Given the description of an element on the screen output the (x, y) to click on. 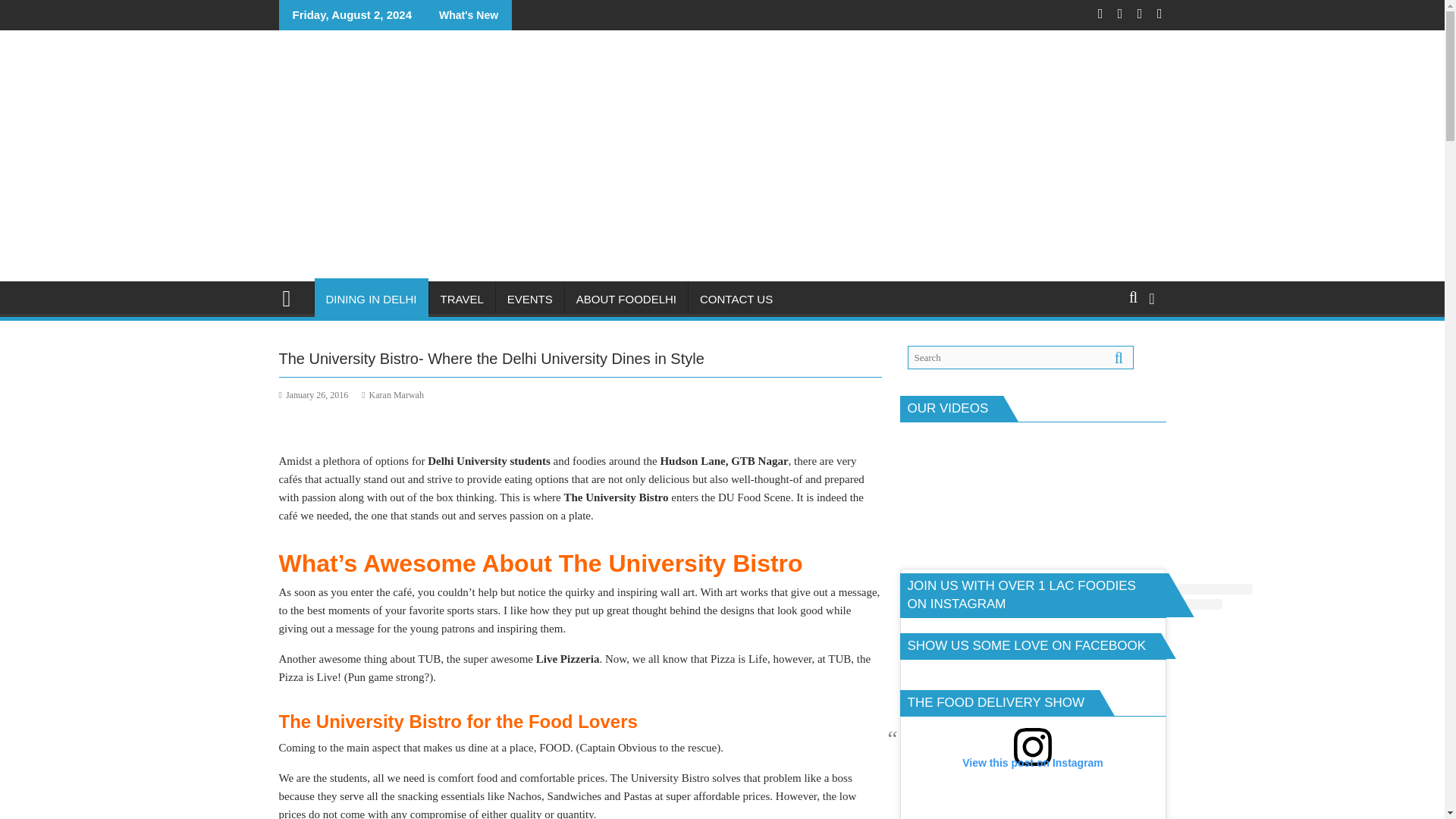
EVENTS (530, 299)
TRAVEL (462, 299)
DINING IN DELHI (371, 299)
ABOUT FOODELHI (625, 299)
Karan Marwah (392, 394)
FOODelhi- India's Own Food and Travel Blog (293, 296)
January 26, 2016 (314, 394)
CONTACT US (736, 299)
